Given the description of an element on the screen output the (x, y) to click on. 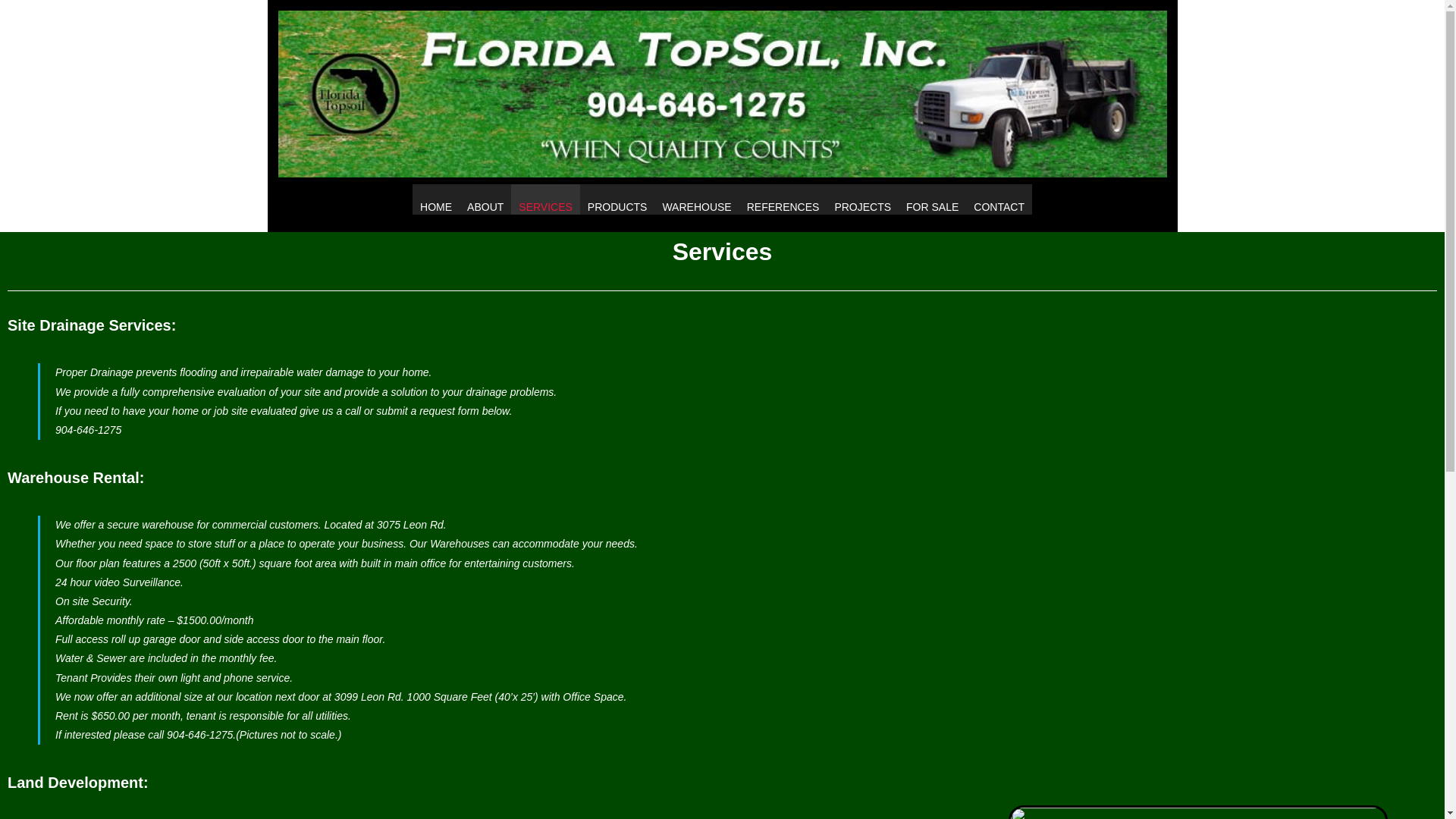
SERVICES (545, 199)
PRODUCTS (617, 199)
REFERENCES (783, 199)
CONTACT (999, 199)
ABOUT (485, 199)
FOR SALE (932, 199)
WAREHOUSE (695, 199)
HOME (436, 199)
PROJECTS (862, 199)
